Given the description of an element on the screen output the (x, y) to click on. 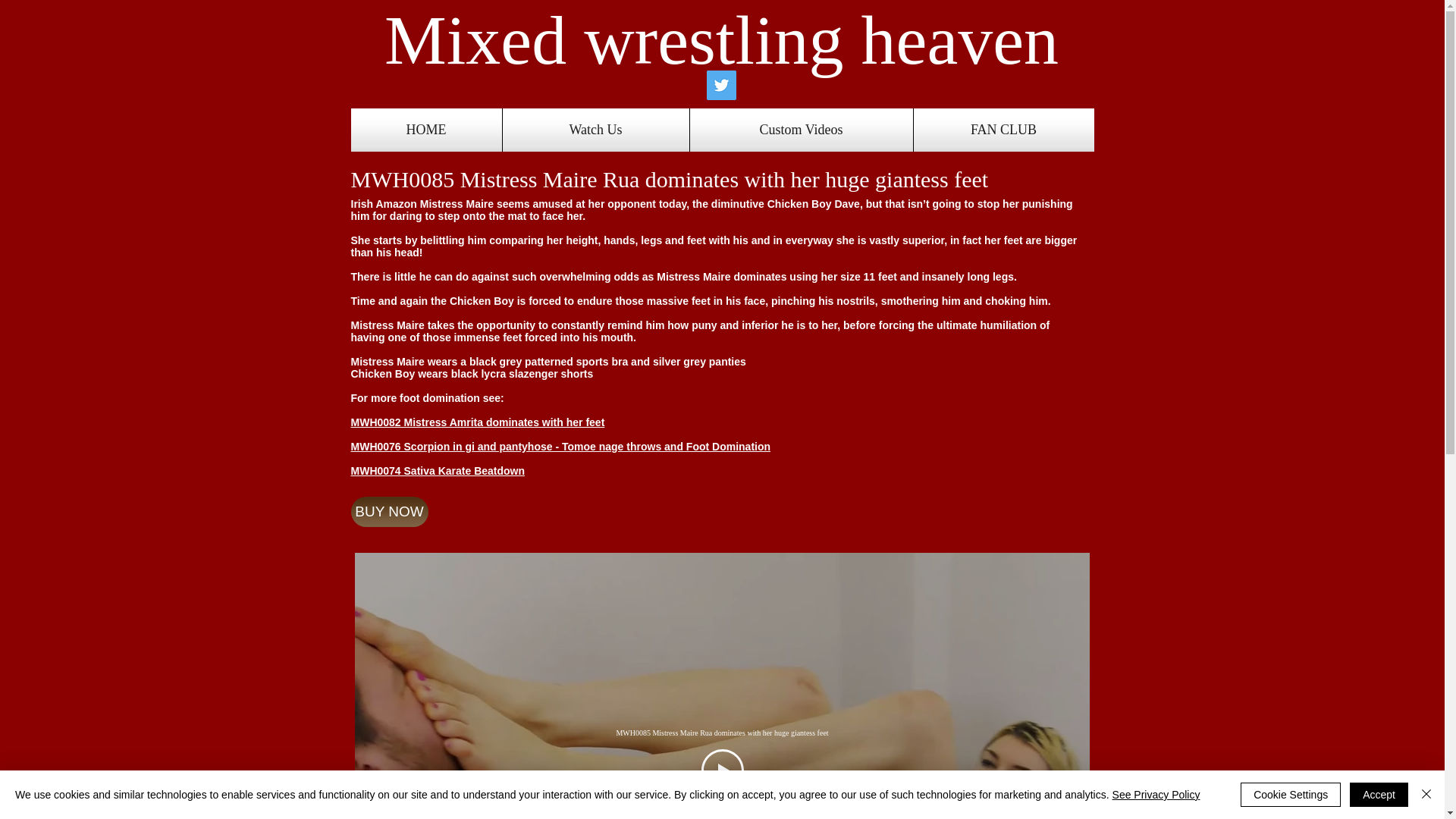
BUY NOW (389, 511)
MWH0074 Sativa Karate Beatdown (437, 470)
Custom Videos (801, 129)
Accept (1378, 794)
Watch Us (595, 129)
See Privacy Policy (1155, 794)
Cookie Settings (1290, 794)
FAN CLUB (1002, 129)
MWH0082 Mistress Amrita dominates with her feet (477, 422)
